Given the description of an element on the screen output the (x, y) to click on. 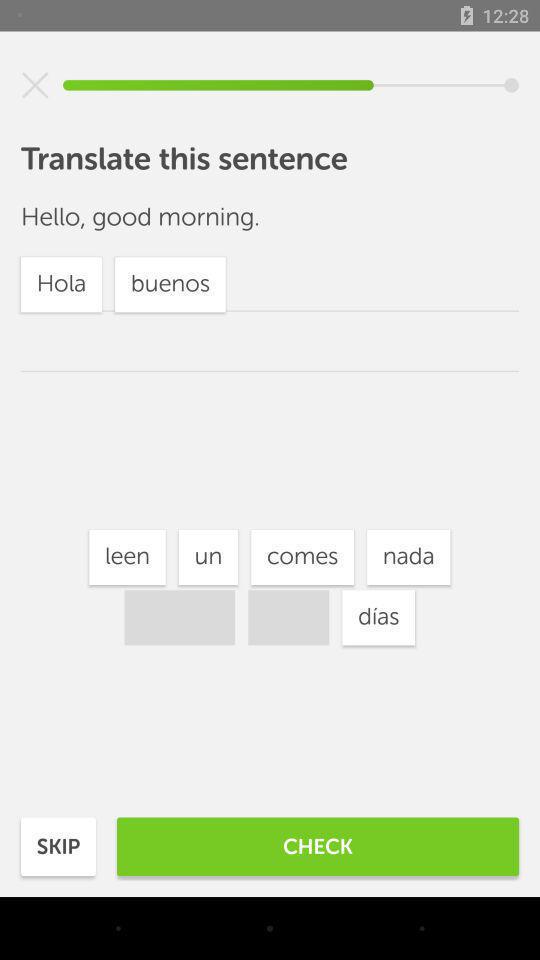
launch item next to hola icon (378, 617)
